Given the description of an element on the screen output the (x, y) to click on. 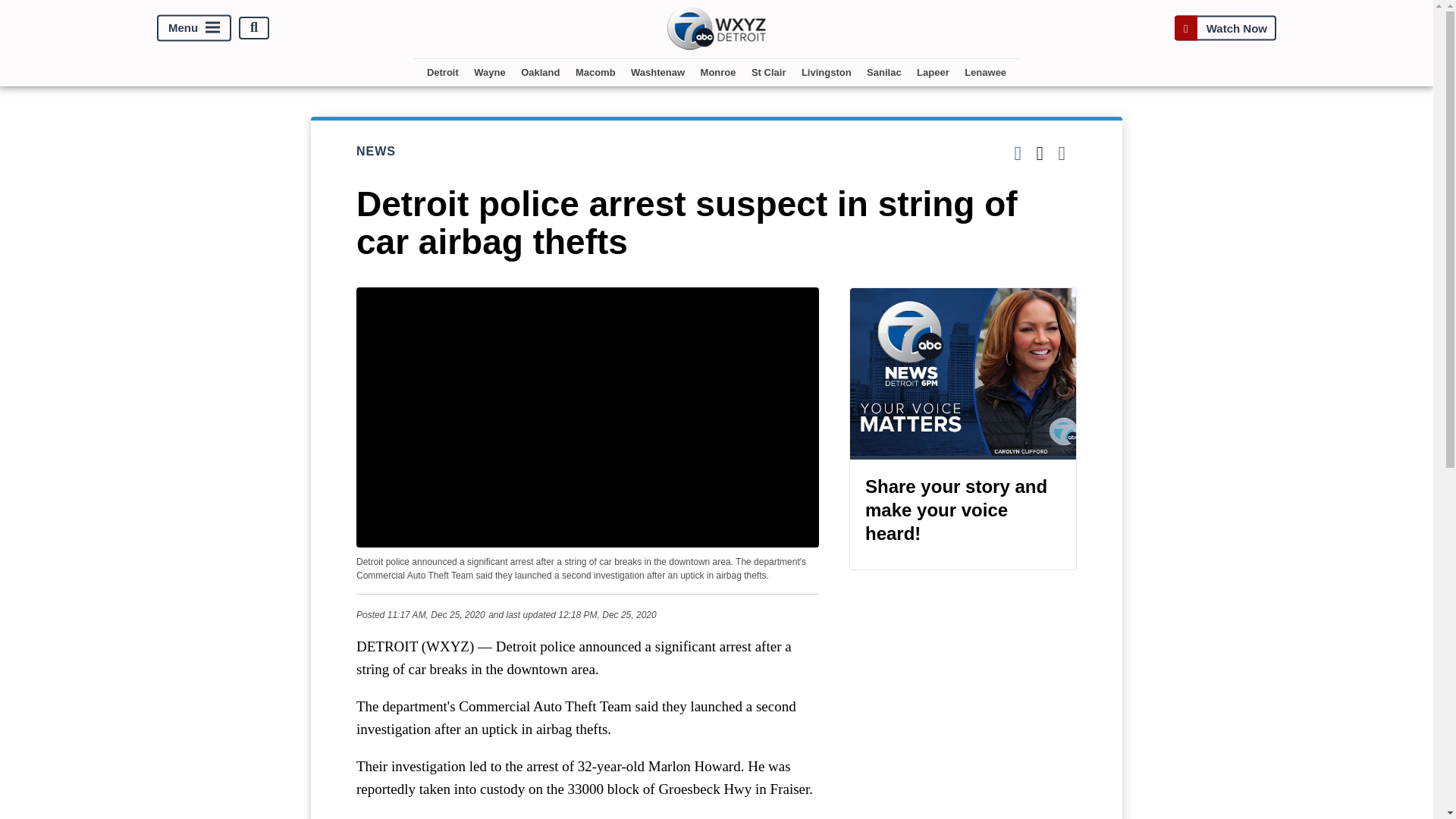
Watch Now (1224, 27)
Menu (194, 27)
